Given the description of an element on the screen output the (x, y) to click on. 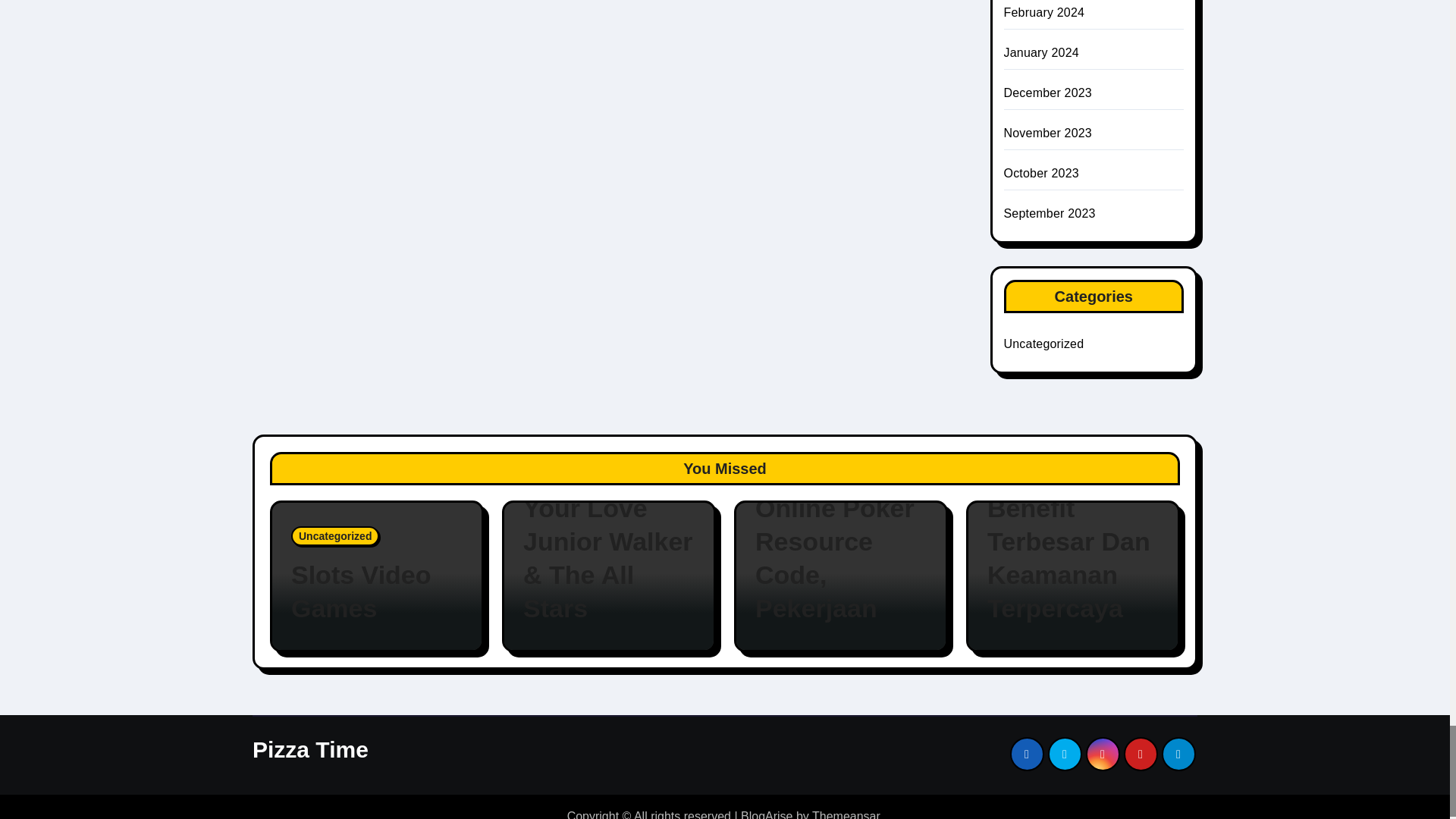
Permalink to: Slots Video Games (377, 590)
